Given the description of an element on the screen output the (x, y) to click on. 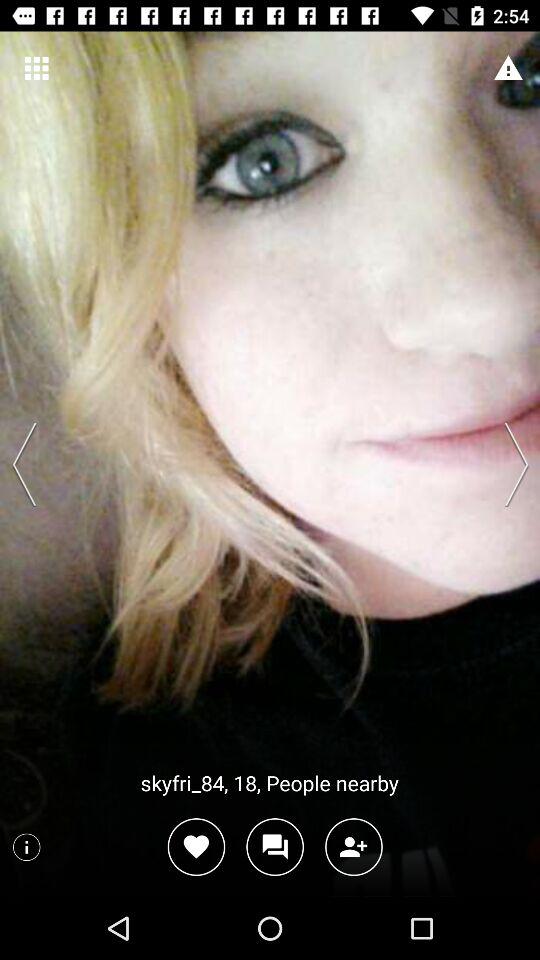
click to message option (274, 846)
